Given the description of an element on the screen output the (x, y) to click on. 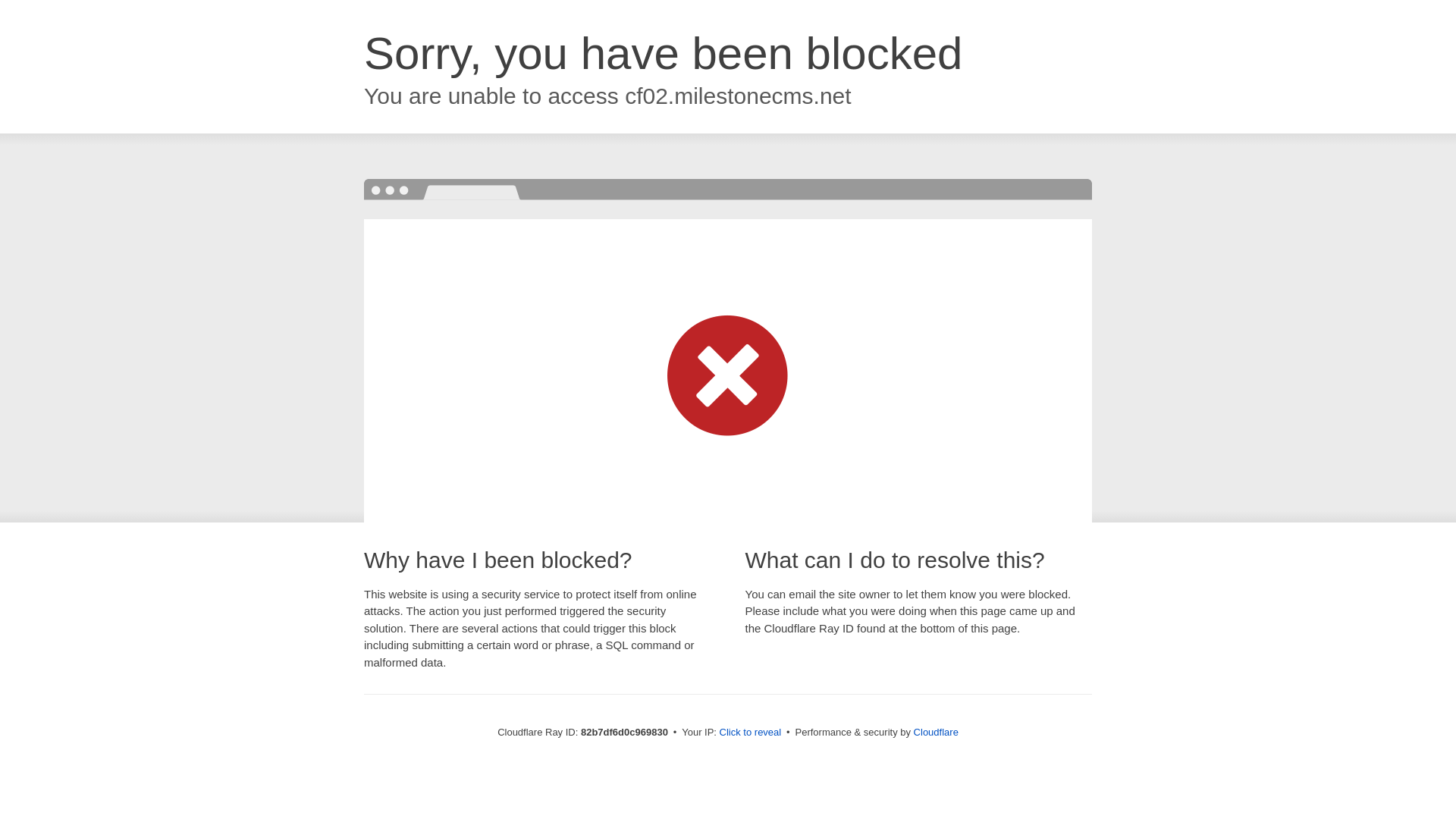
Click to reveal Element type: text (750, 732)
Cloudflare Element type: text (935, 731)
